Given the description of an element on the screen output the (x, y) to click on. 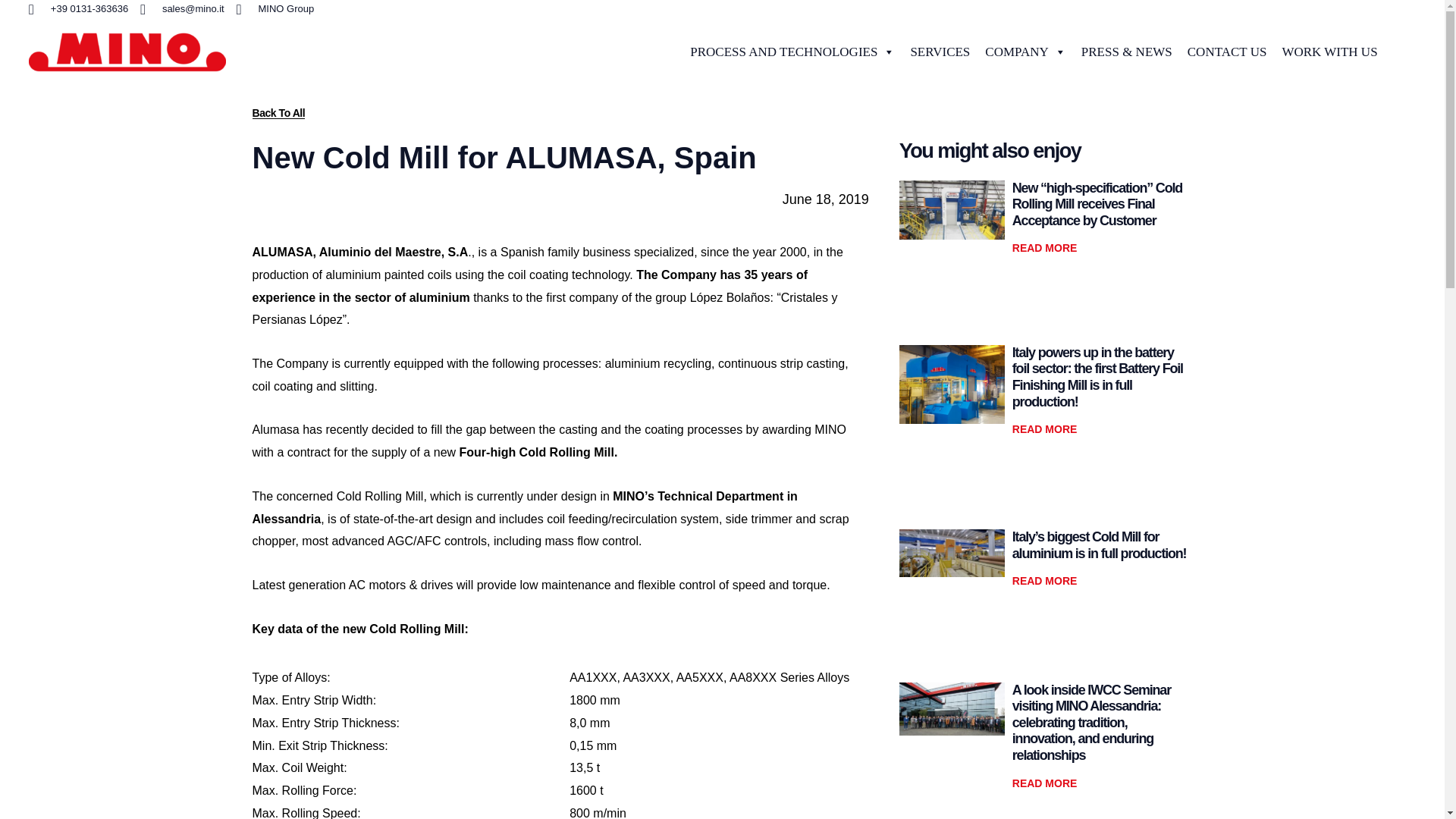
Back To All (277, 112)
WORK WITH US (1329, 52)
PROCESS AND TECHNOLOGIES (792, 52)
CONTACT US (1227, 52)
SERVICES (939, 52)
COMPANY (1024, 52)
READ MORE (1044, 783)
READ MORE (1044, 428)
MINO Group (274, 9)
READ MORE (1044, 580)
READ MORE (1044, 247)
